Given the description of an element on the screen output the (x, y) to click on. 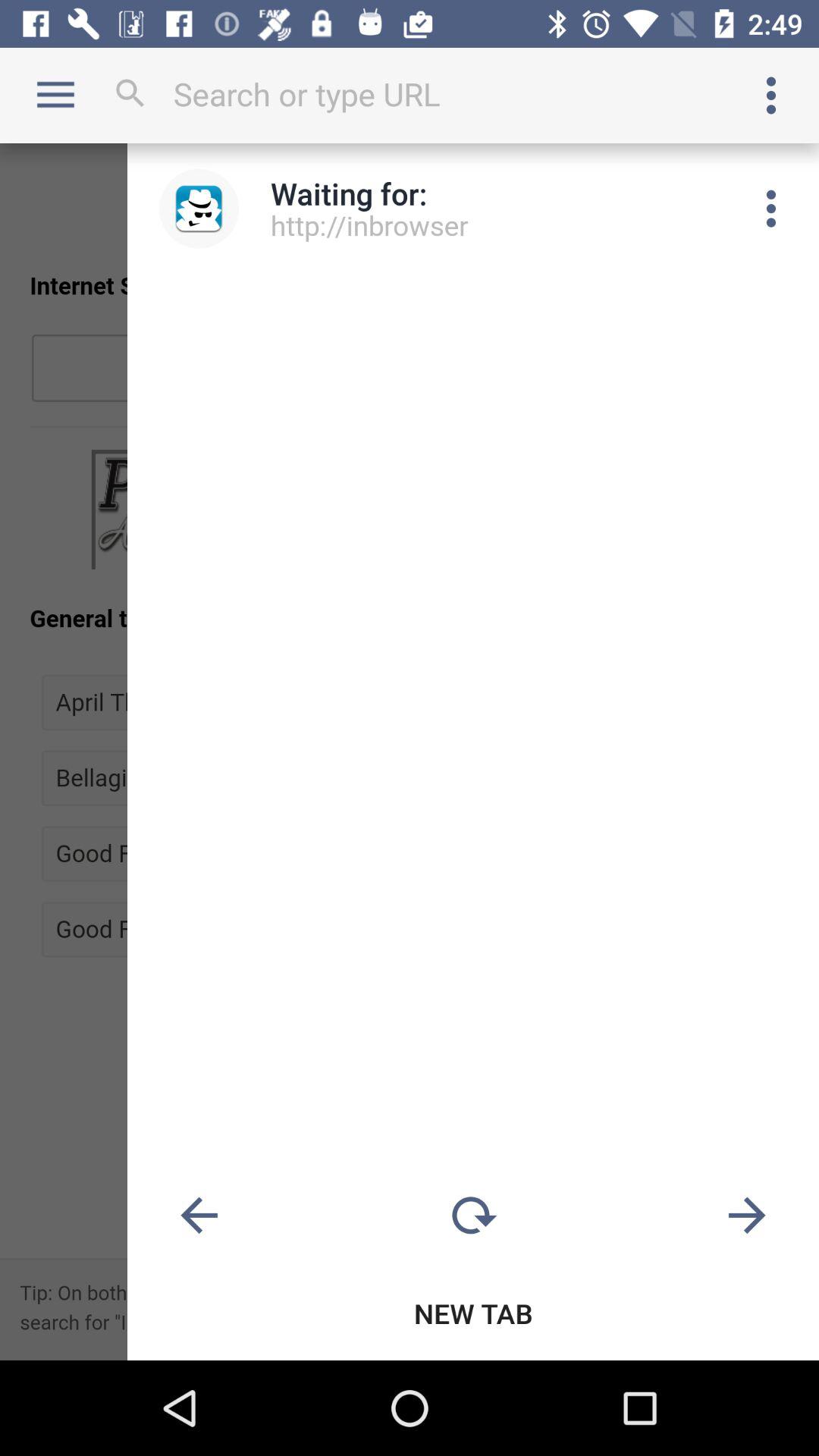
go to next page (747, 1216)
